Given the description of an element on the screen output the (x, y) to click on. 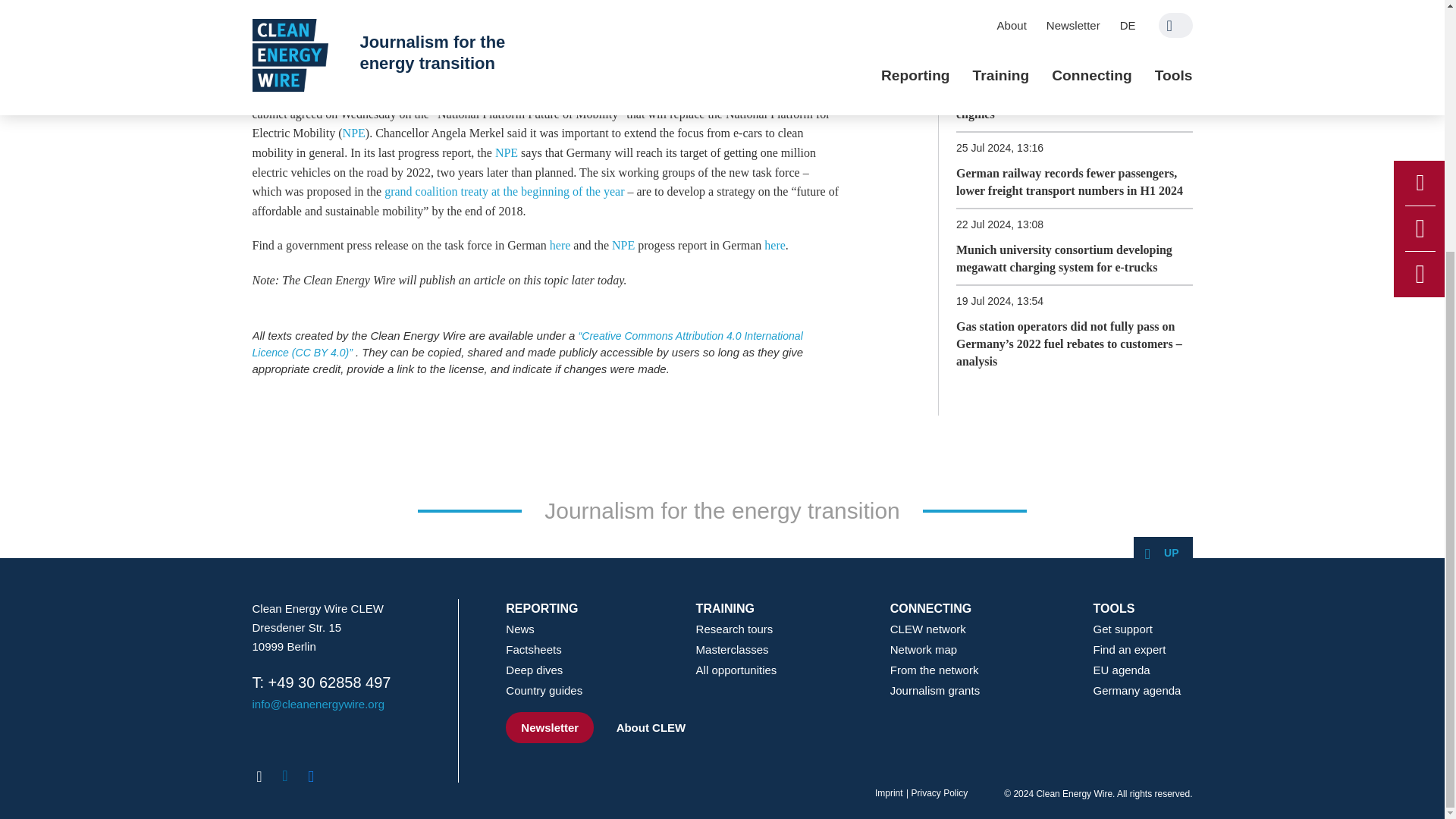
Cars (268, 28)
NPE (506, 152)
Transport (319, 28)
NPE (353, 132)
